Given the description of an element on the screen output the (x, y) to click on. 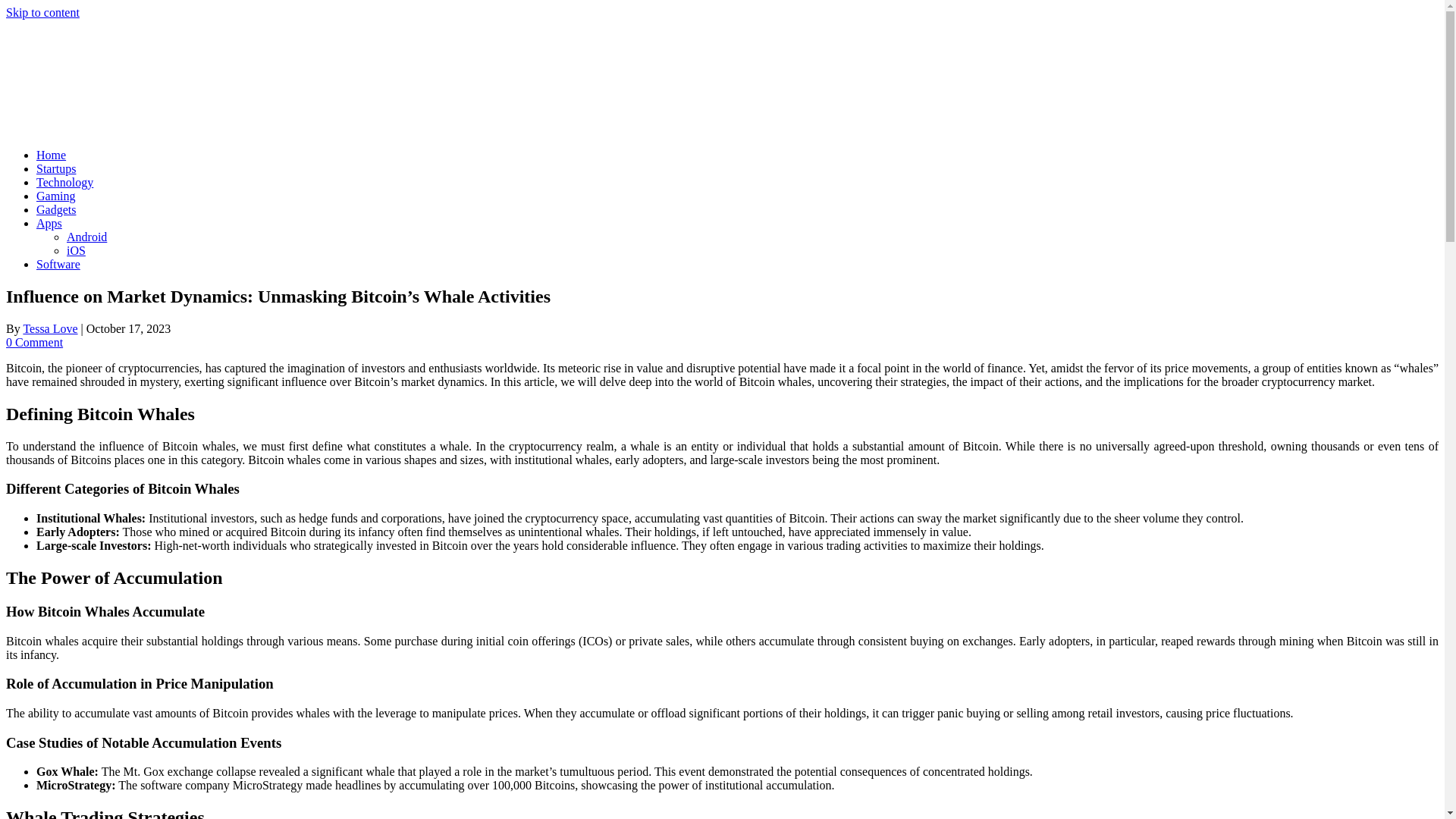
Software (58, 264)
iOS (75, 250)
Android (86, 236)
VOIVO InfoTech (118, 128)
Startups (55, 168)
Tessa Love (50, 328)
Apps (49, 223)
Home (50, 154)
0 Comment (33, 341)
Technology (64, 182)
Gaming (55, 195)
Skip to content (42, 11)
Posts by Tessa Love (50, 328)
Skip to content (42, 11)
Gadgets (55, 209)
